Given the description of an element on the screen output the (x, y) to click on. 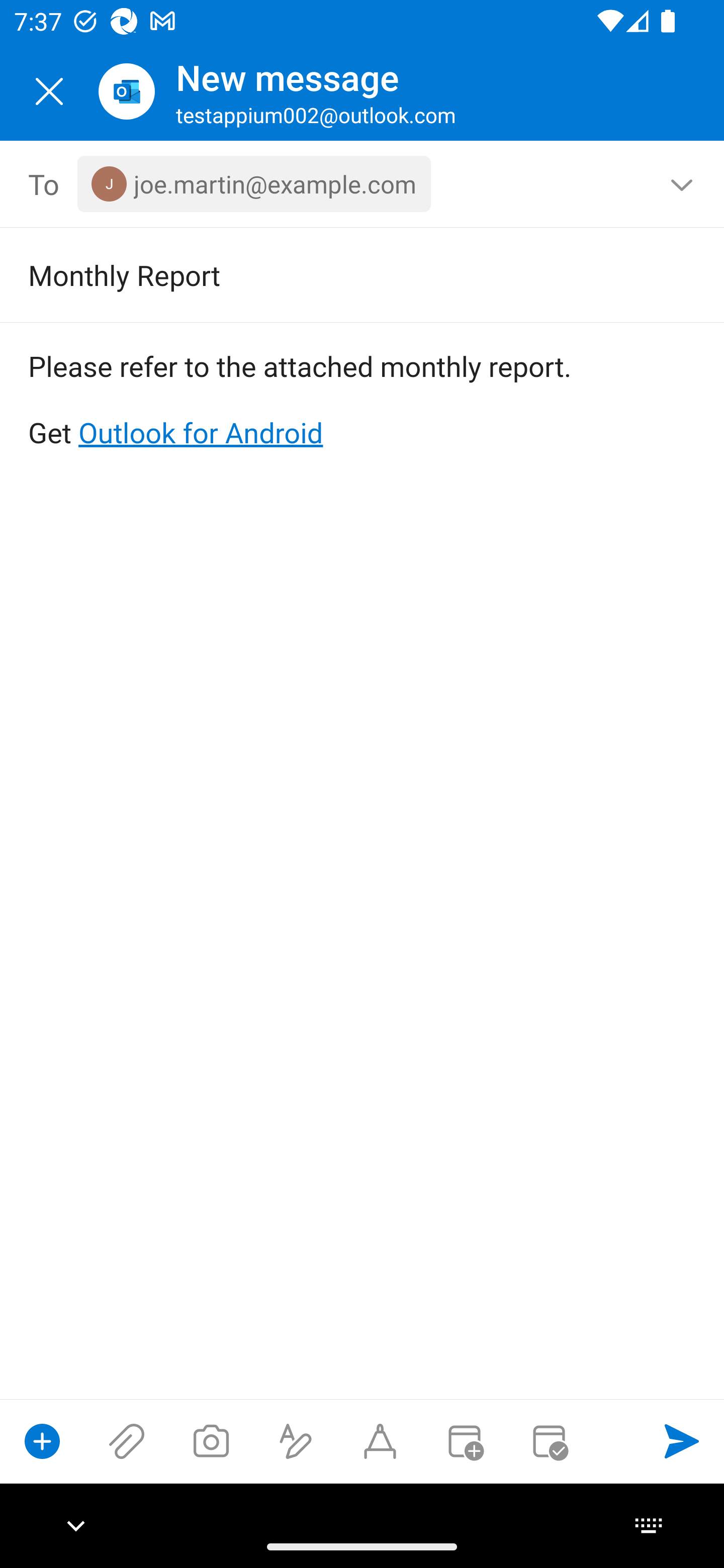
Close (49, 91)
To, 1 recipient <joe.martin@example.com> (362, 184)
Monthly Report (333, 274)
Show compose options (42, 1440)
Attach files (126, 1440)
Take a photo (210, 1440)
Show formatting options (295, 1440)
Start Ink compose (380, 1440)
Convert to event (464, 1440)
Send availability (548, 1440)
Send (681, 1440)
